Given the description of an element on the screen output the (x, y) to click on. 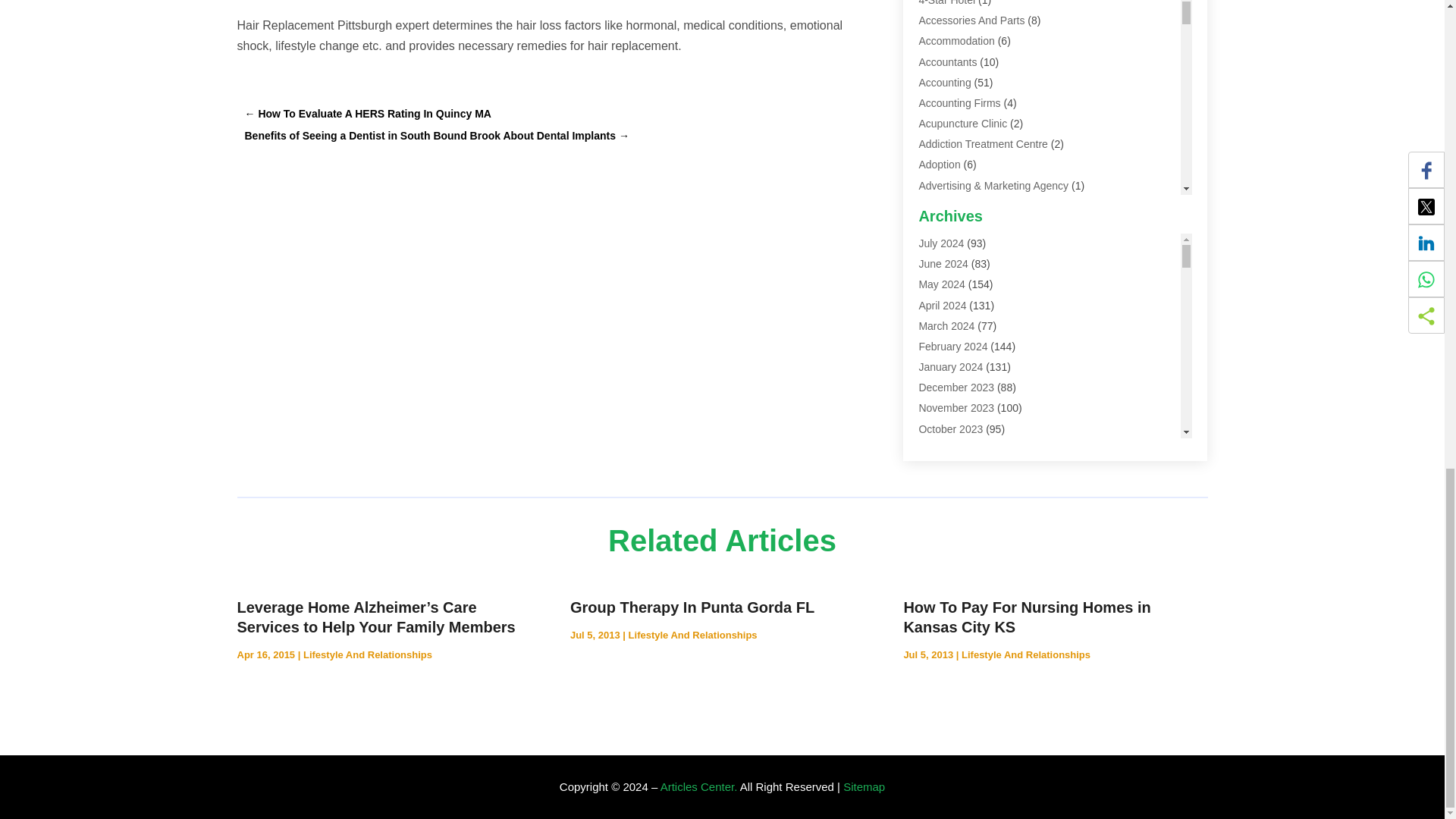
Accessories And Parts (971, 20)
Agricultural Service (964, 226)
Advertising Agency (963, 205)
Accommodation (956, 40)
Air Compressors (957, 288)
Accounting (944, 82)
Accountants (947, 61)
Adoption (938, 164)
Addiction Treatment Centre (982, 143)
Agriculture (943, 246)
4-Star Hotel (946, 2)
Acupuncture Clinic (962, 123)
Accounting Firms (959, 102)
Agronomy (942, 267)
